Given the description of an element on the screen output the (x, y) to click on. 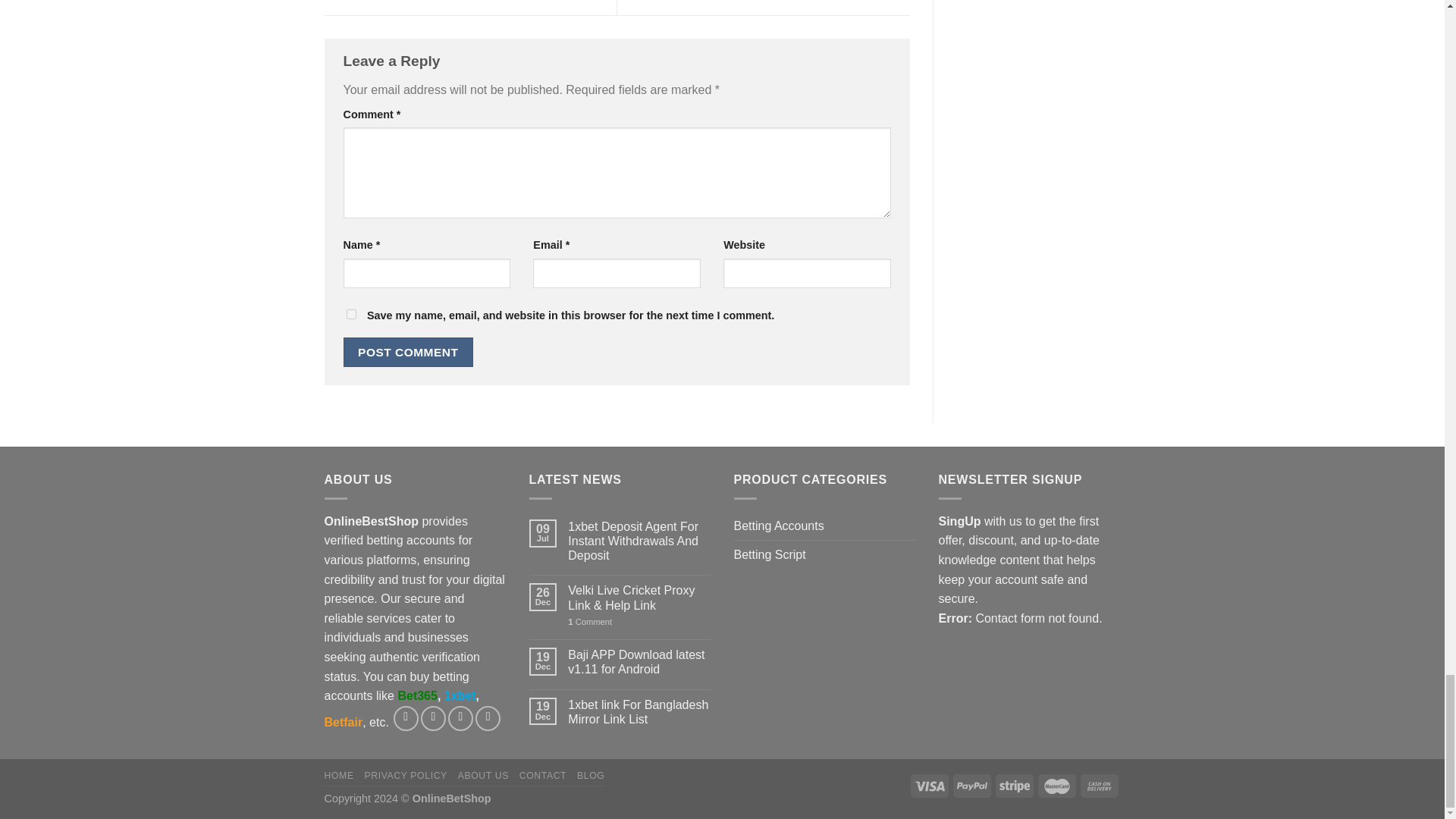
Post Comment (407, 351)
yes (350, 314)
